Given the description of an element on the screen output the (x, y) to click on. 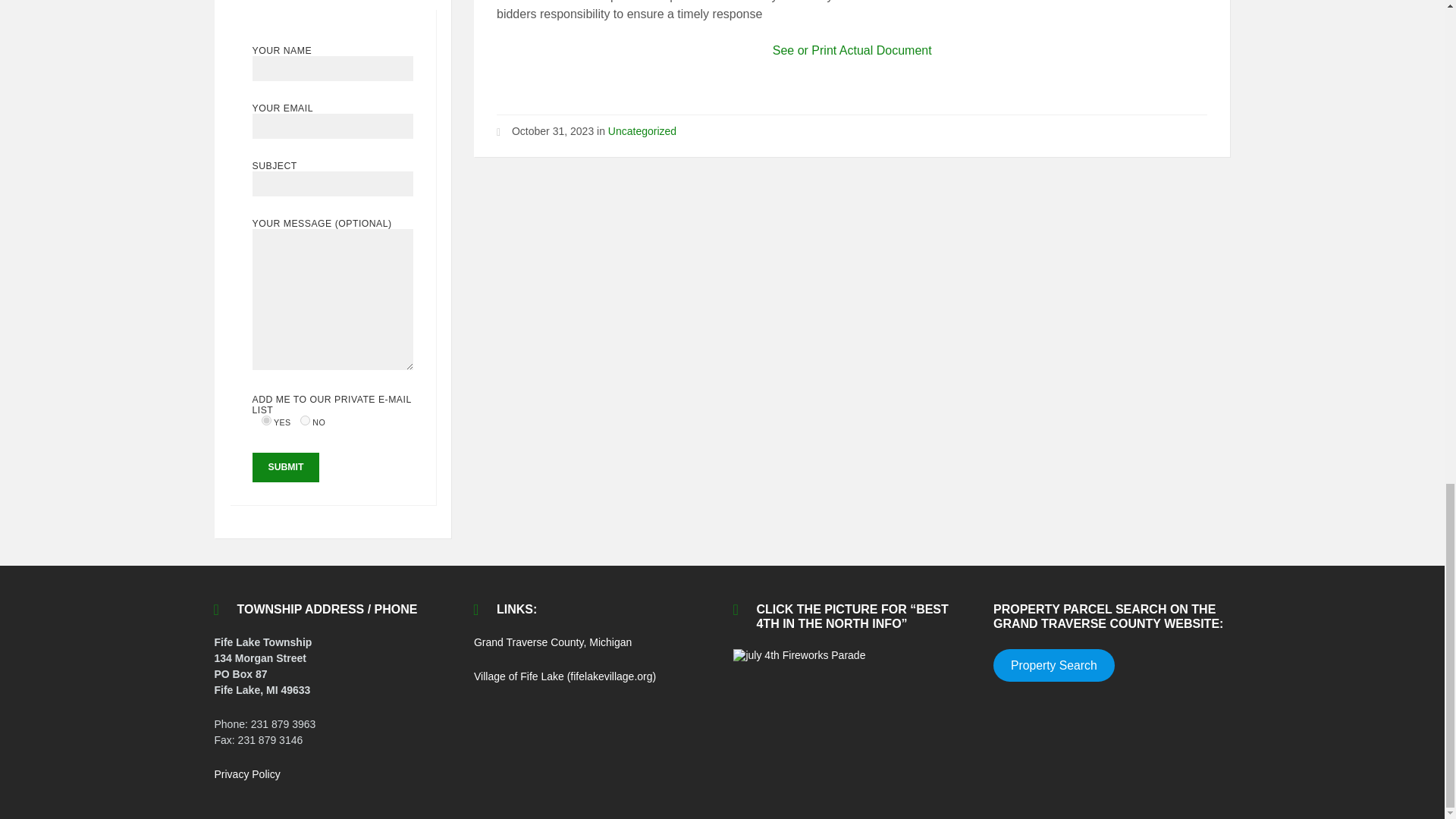
Submit (284, 466)
No (304, 420)
Yes (266, 420)
